Given the description of an element on the screen output the (x, y) to click on. 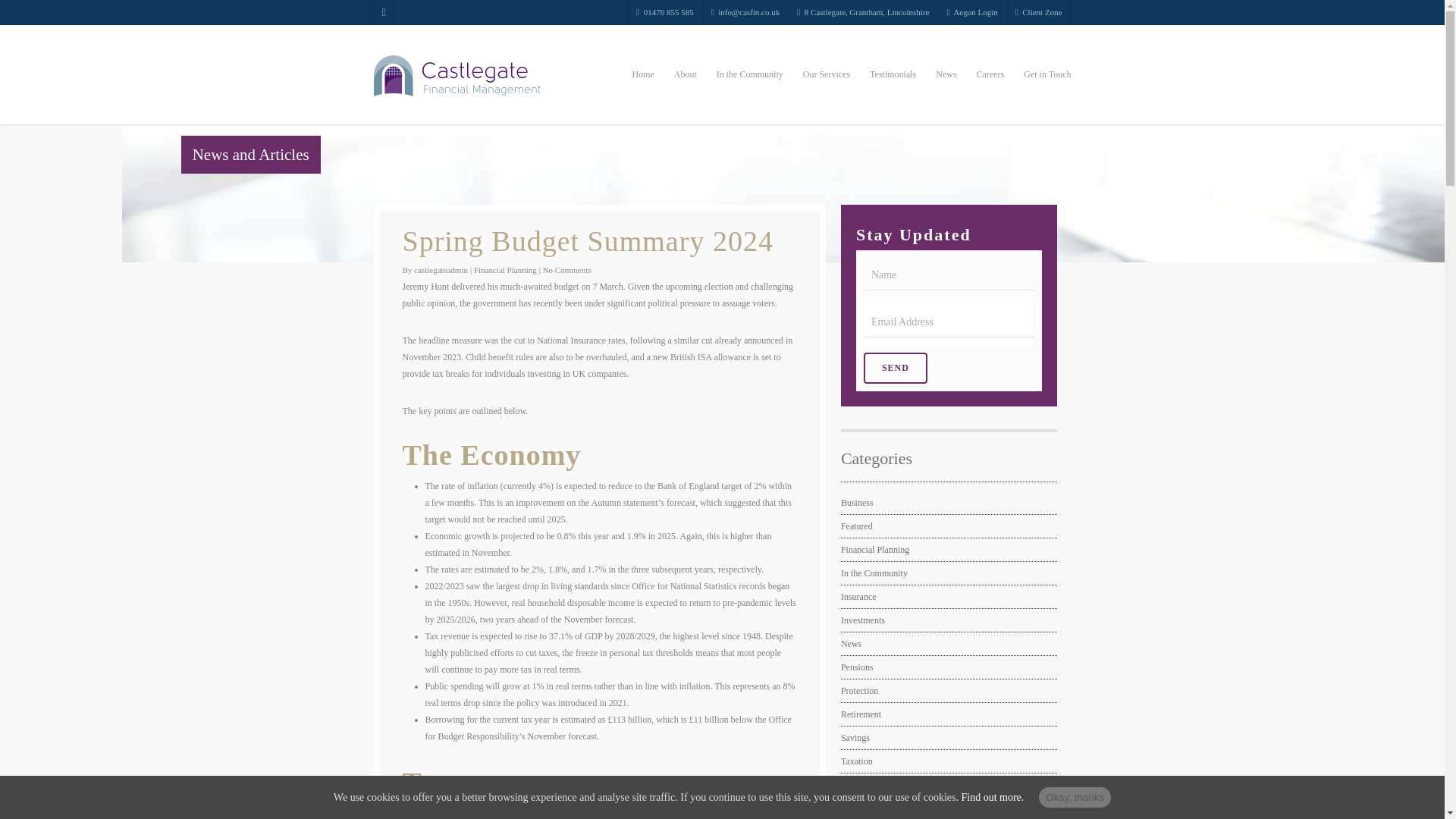
No Comments (567, 269)
Send (895, 368)
castlegateadmin (440, 269)
  Aegon Login (970, 12)
  01476 855 585 (664, 12)
LiveChat chat widget (1374, 779)
 Client Zone (1038, 12)
Send (895, 368)
Business (949, 502)
Posts by castlegateadmin (440, 269)
  8 Castlegate, Grantham, Lincolnshire (862, 12)
Financial Planning (505, 269)
Featured (949, 525)
